Given the description of an element on the screen output the (x, y) to click on. 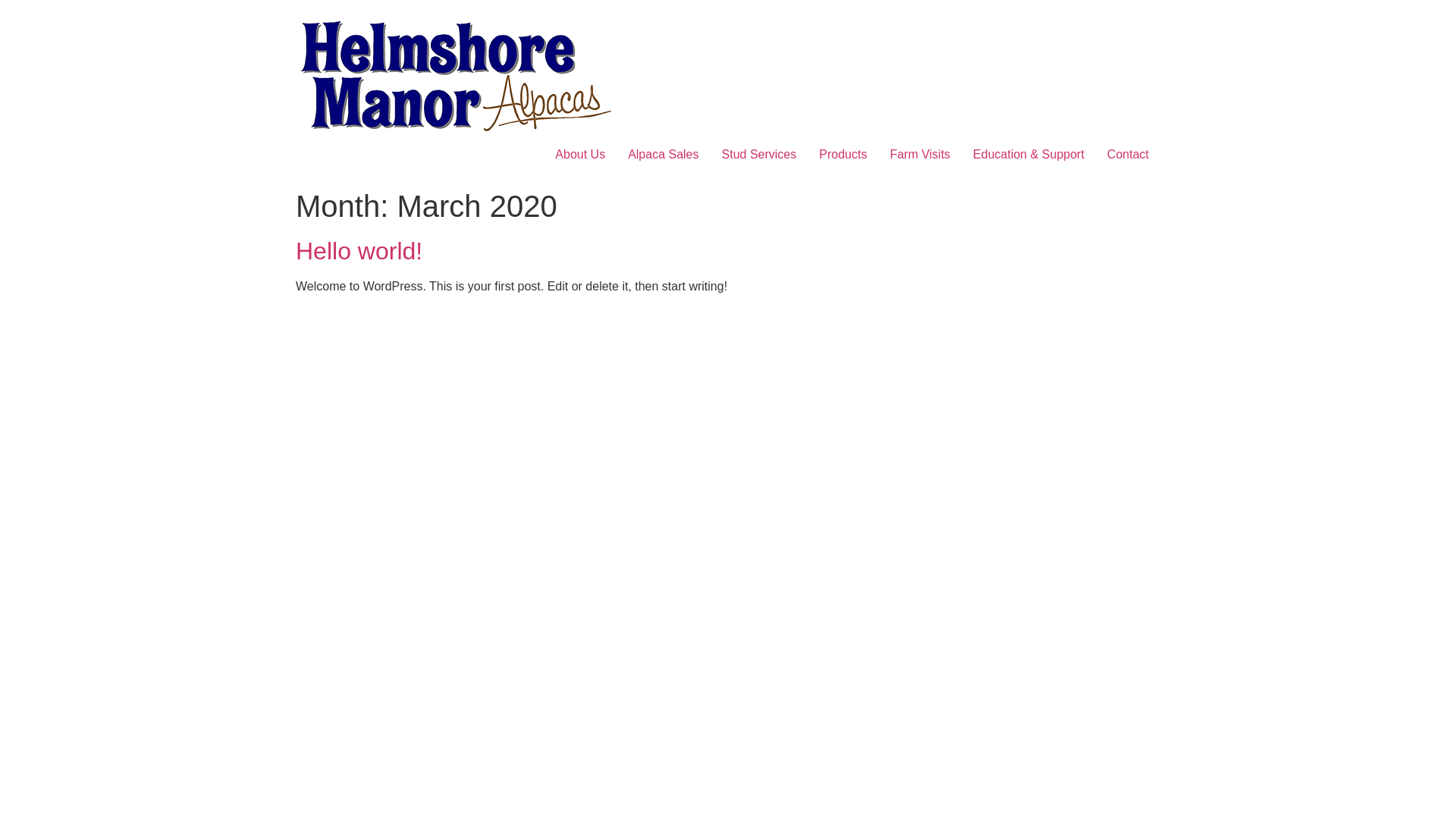
About Us Element type: text (579, 154)
Alpaca Sales Element type: text (662, 154)
Hello world! Element type: text (358, 250)
Contact Element type: text (1127, 154)
Stud Services Element type: text (759, 154)
Education & Support Element type: text (1028, 154)
Farm Visits Element type: text (919, 154)
Products Element type: text (842, 154)
